Given the description of an element on the screen output the (x, y) to click on. 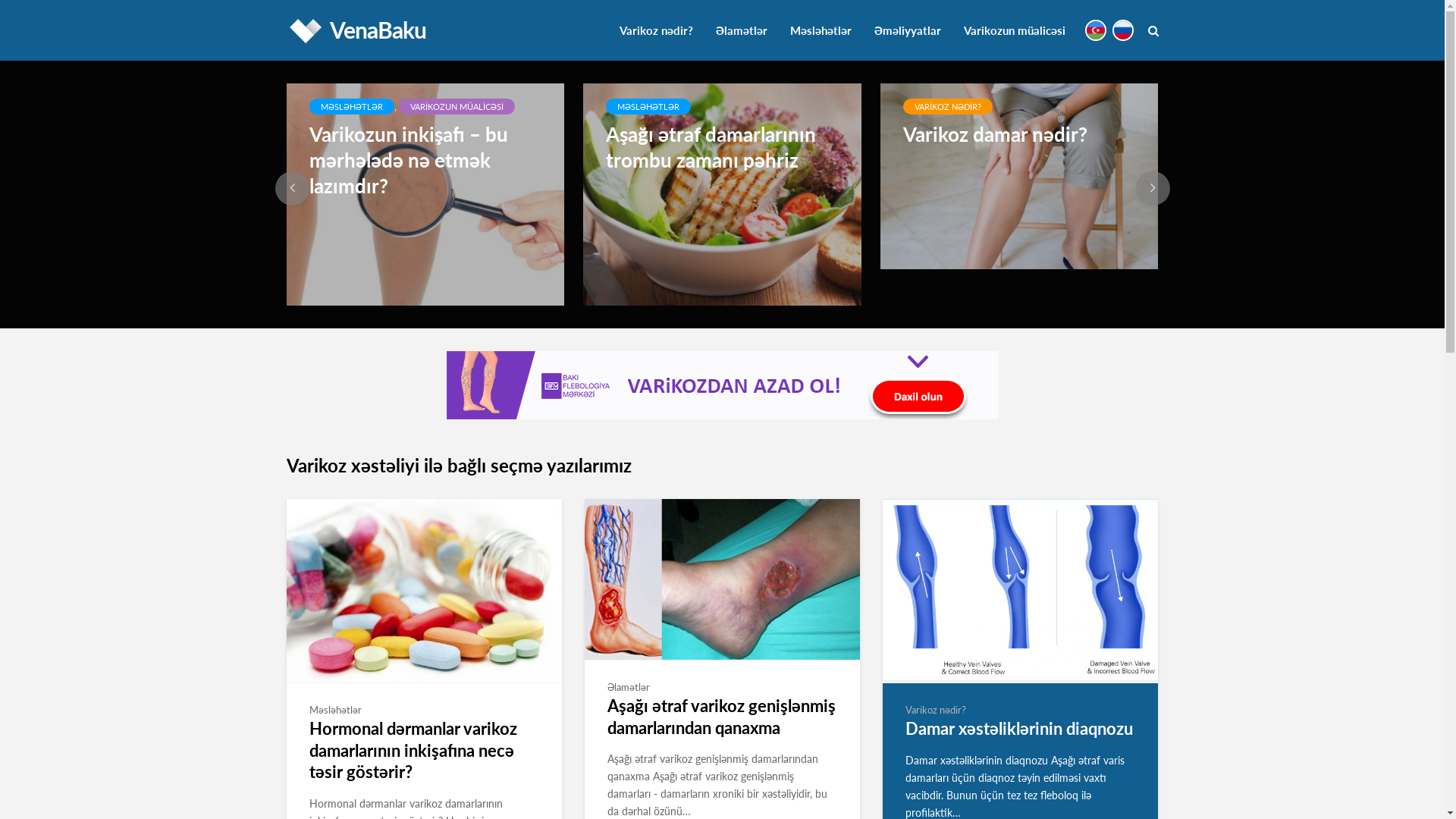
VenaBaku Element type: text (377, 29)
